Given the description of an element on the screen output the (x, y) to click on. 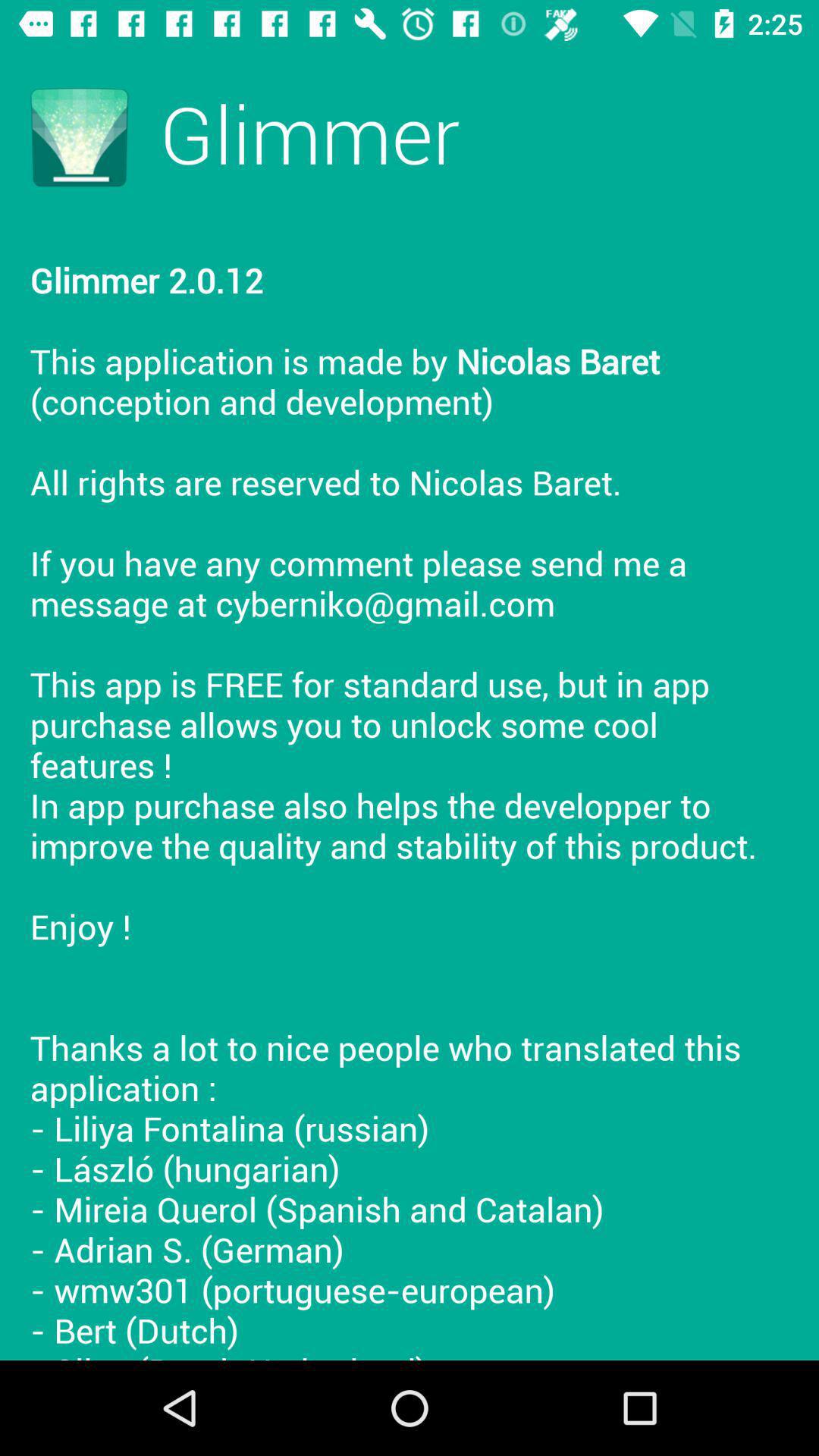
click glimmer 2 0 icon (409, 793)
